Given the description of an element on the screen output the (x, y) to click on. 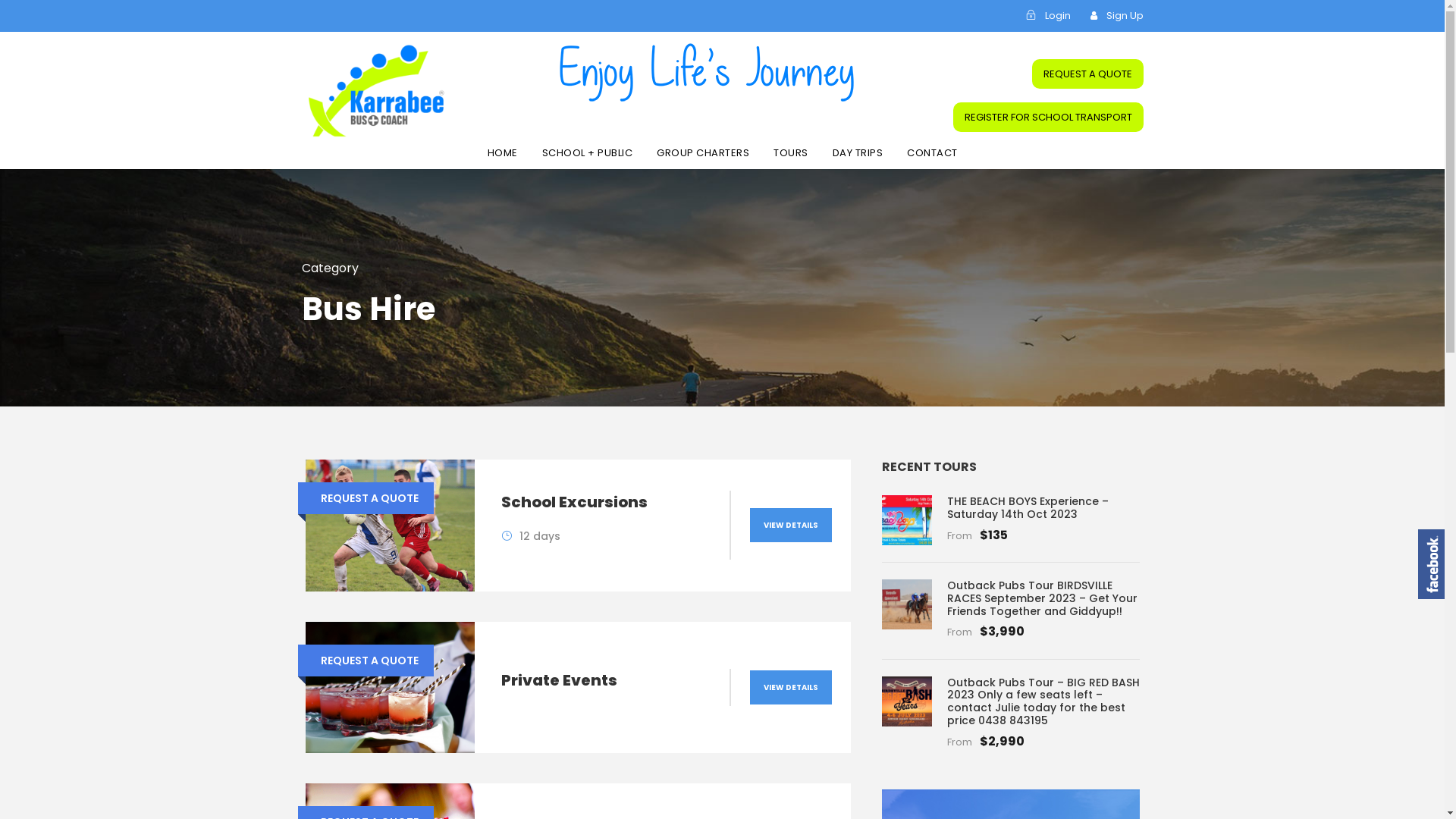
REQUEST A QUOTE Element type: text (1086, 73)
logo-karrabee Element type: hover (382, 90)
TOURS Element type: text (790, 156)
Private Events Element type: text (559, 679)
HOME Element type: text (501, 156)
REGISTER FOR SCHOOL TRANSPORT Element type: text (1047, 116)
VIEW DETAILS Element type: text (790, 687)
School Excursions Element type: text (574, 501)
VIEW DETAILS Element type: text (790, 525)
GROUP CHARTERS Element type: text (702, 156)
SCHOOL + PUBLIC Element type: text (586, 156)
CONTACT Element type: text (931, 156)
DAY TRIPS Element type: text (857, 156)
